Given the description of an element on the screen output the (x, y) to click on. 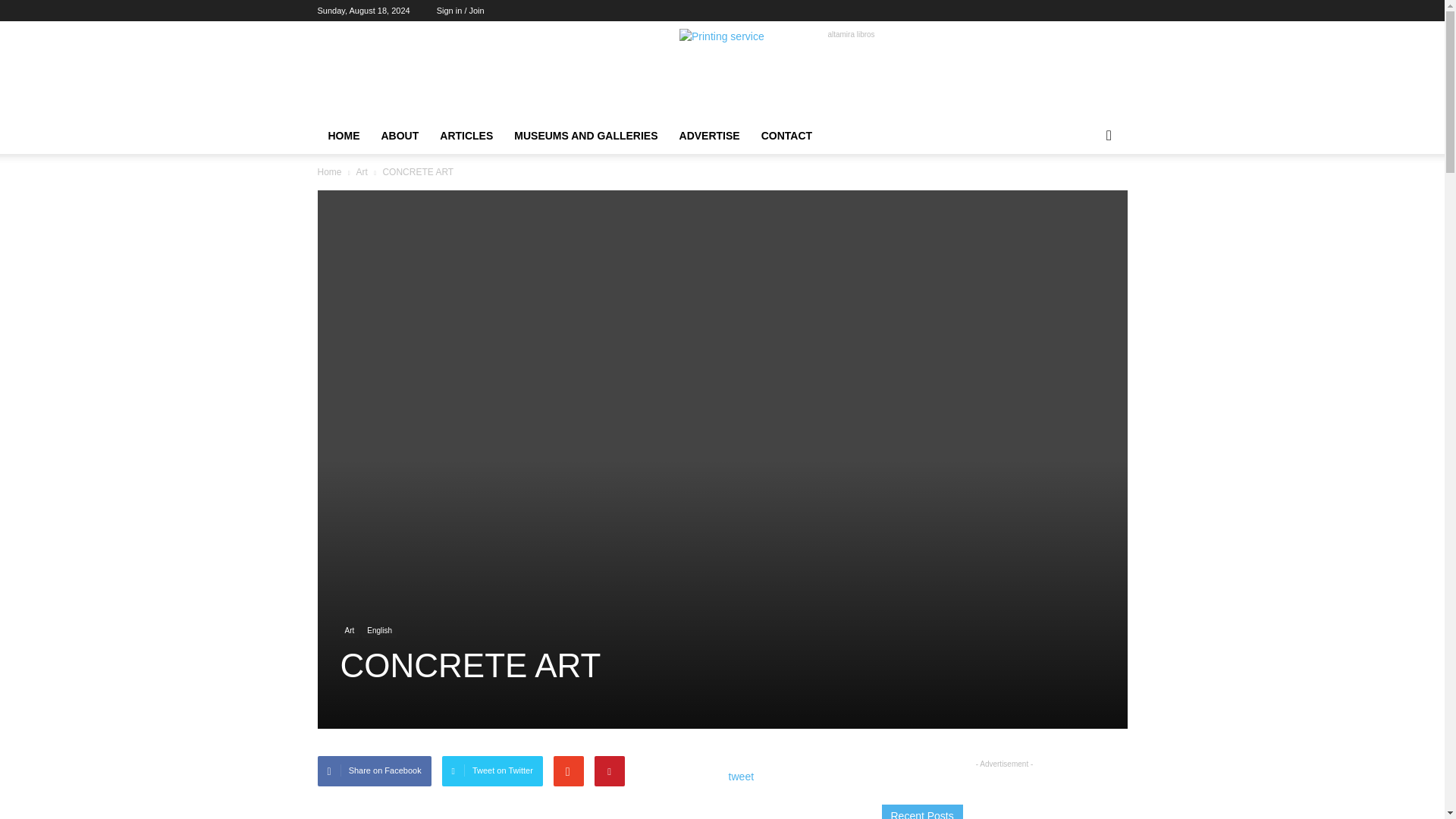
Art (360, 172)
ABOUT (399, 135)
Home (328, 172)
Search (1085, 196)
HOME (343, 135)
CONTACT (786, 135)
ARTICLES (466, 135)
MUSEUMS AND GALLERIES (585, 135)
View all posts in Art (360, 172)
ADVERTISE (709, 135)
